Given the description of an element on the screen output the (x, y) to click on. 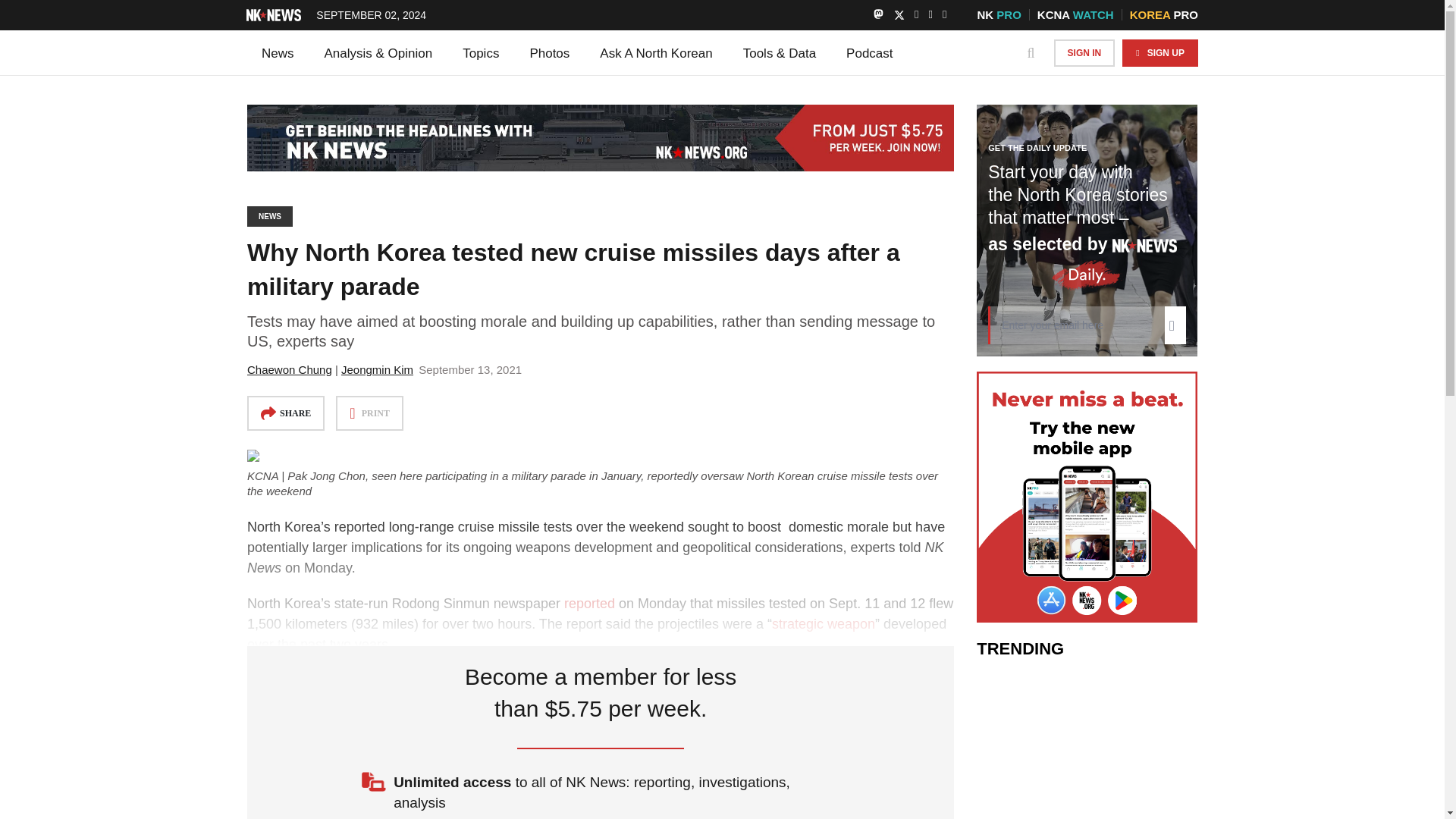
KCNA WATCH (1074, 14)
KOREA PRO (1163, 14)
NK PRO (998, 14)
